Given the description of an element on the screen output the (x, y) to click on. 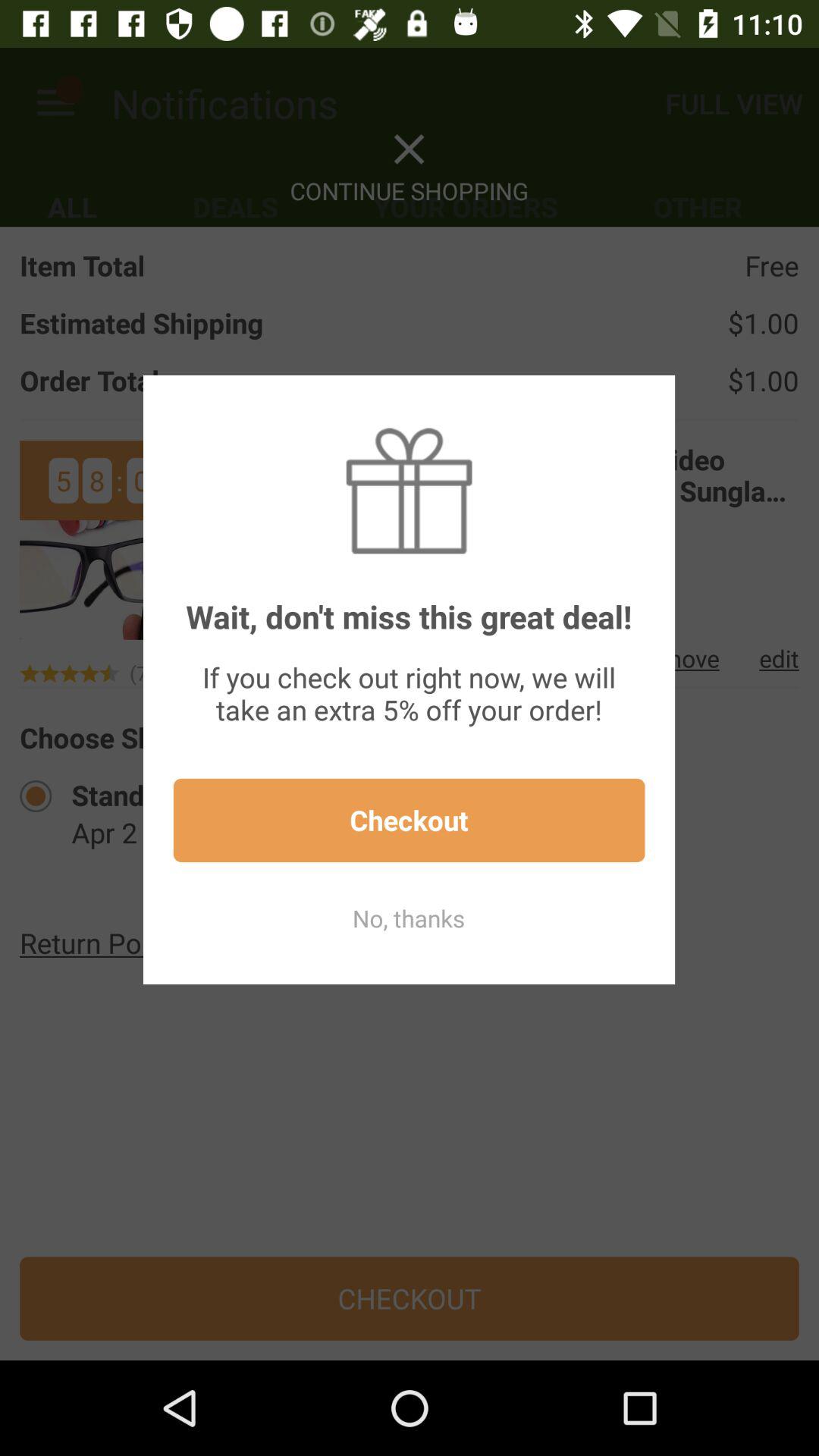
select the checkout (408, 820)
